Given the description of an element on the screen output the (x, y) to click on. 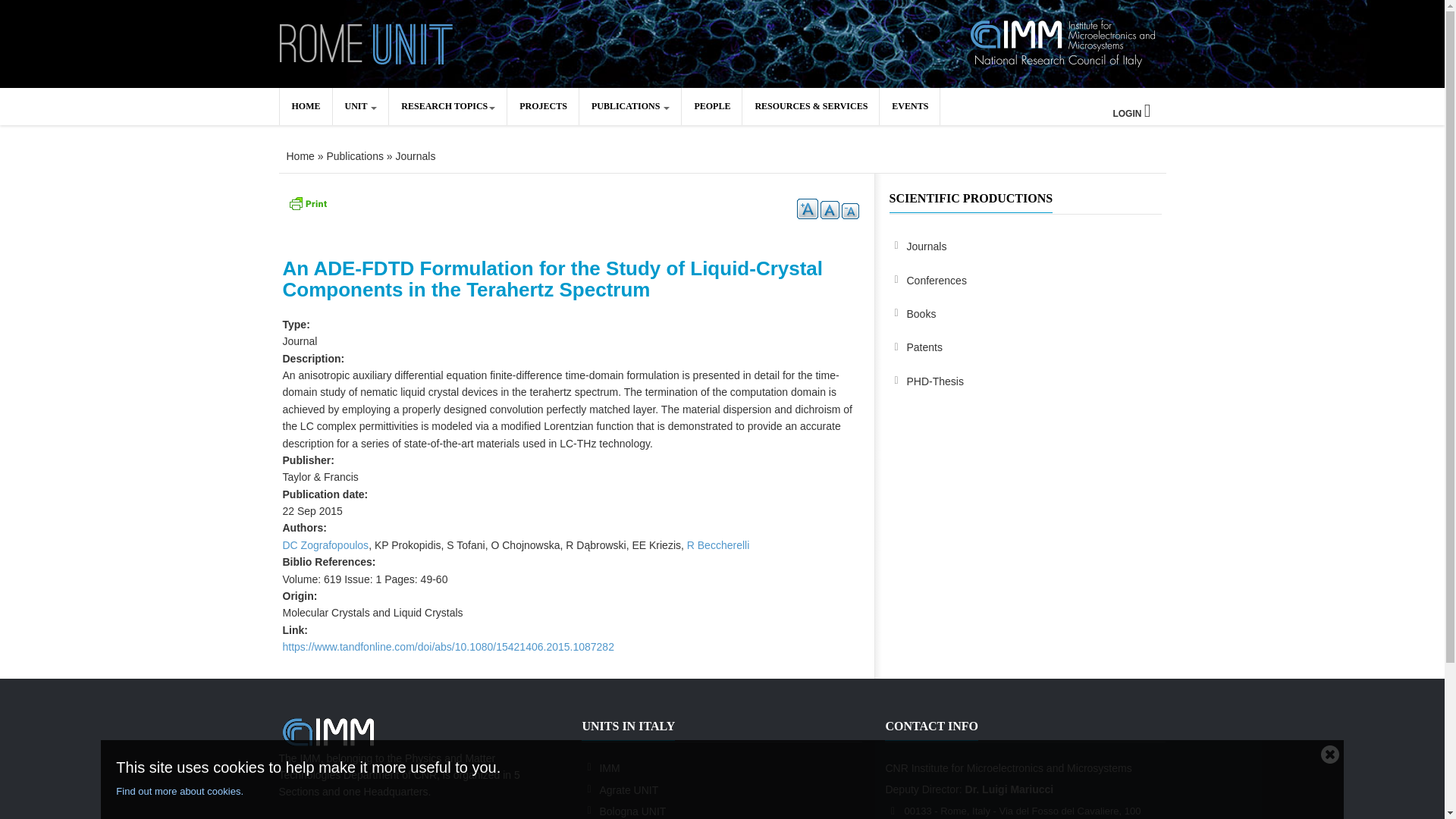
RESEARCH TOPICS (447, 106)
PUBLICATIONS (630, 106)
PROJECTS (542, 106)
Projects (542, 106)
Find out more about cookies. (714, 791)
Close cookie notice (1329, 753)
Home (367, 41)
PEOPLE (711, 106)
UNIT (359, 106)
HOME (305, 106)
People (711, 106)
EVENTS (909, 106)
Events (909, 106)
